Given the description of an element on the screen output the (x, y) to click on. 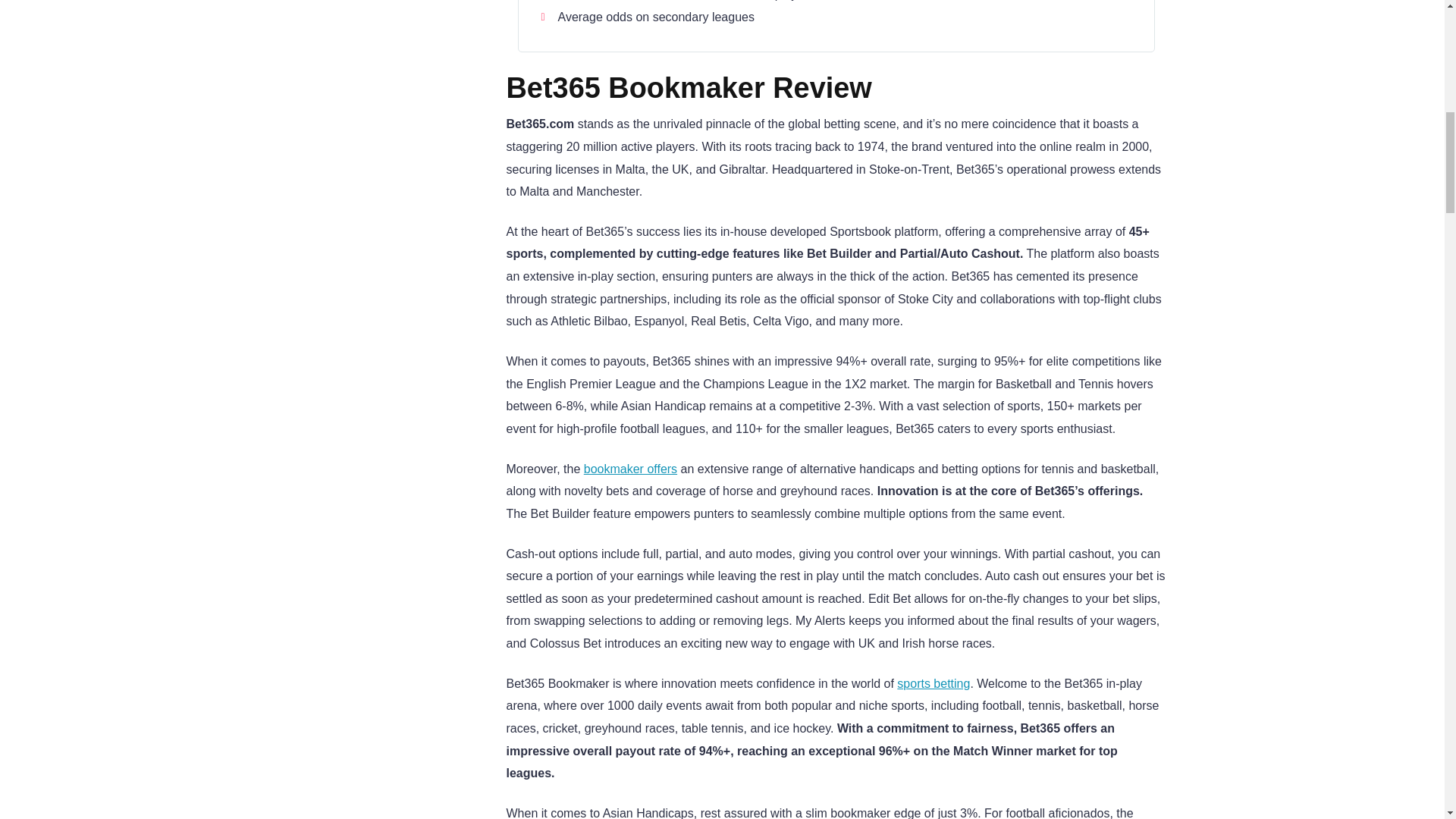
sports betting (932, 683)
bookmaker offers (630, 468)
